Given the description of an element on the screen output the (x, y) to click on. 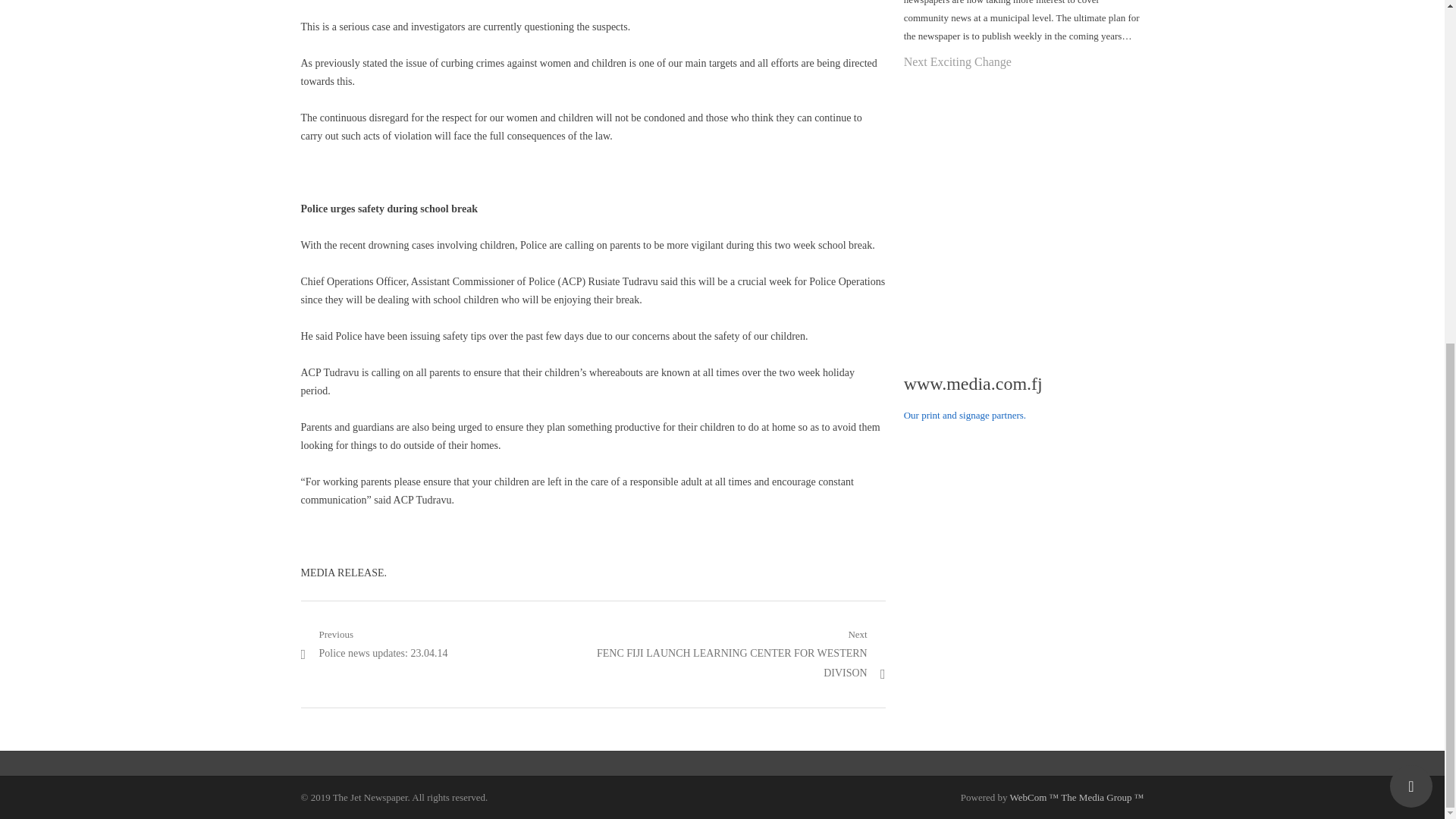
www.media.com.fj (973, 383)
scroll to top (1411, 199)
Scroll to top (372, 644)
